Given the description of an element on the screen output the (x, y) to click on. 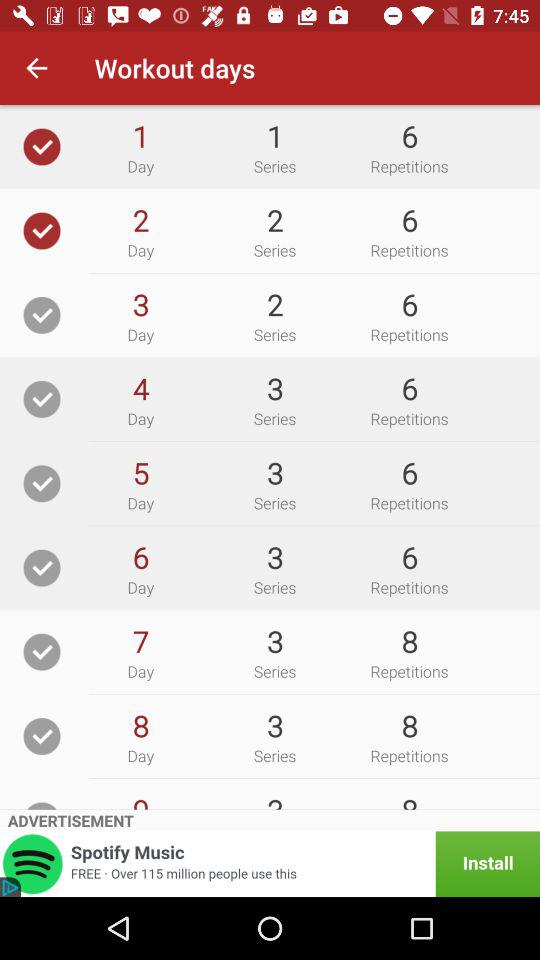
click icon to the left of 3 icon (140, 641)
